Given the description of an element on the screen output the (x, y) to click on. 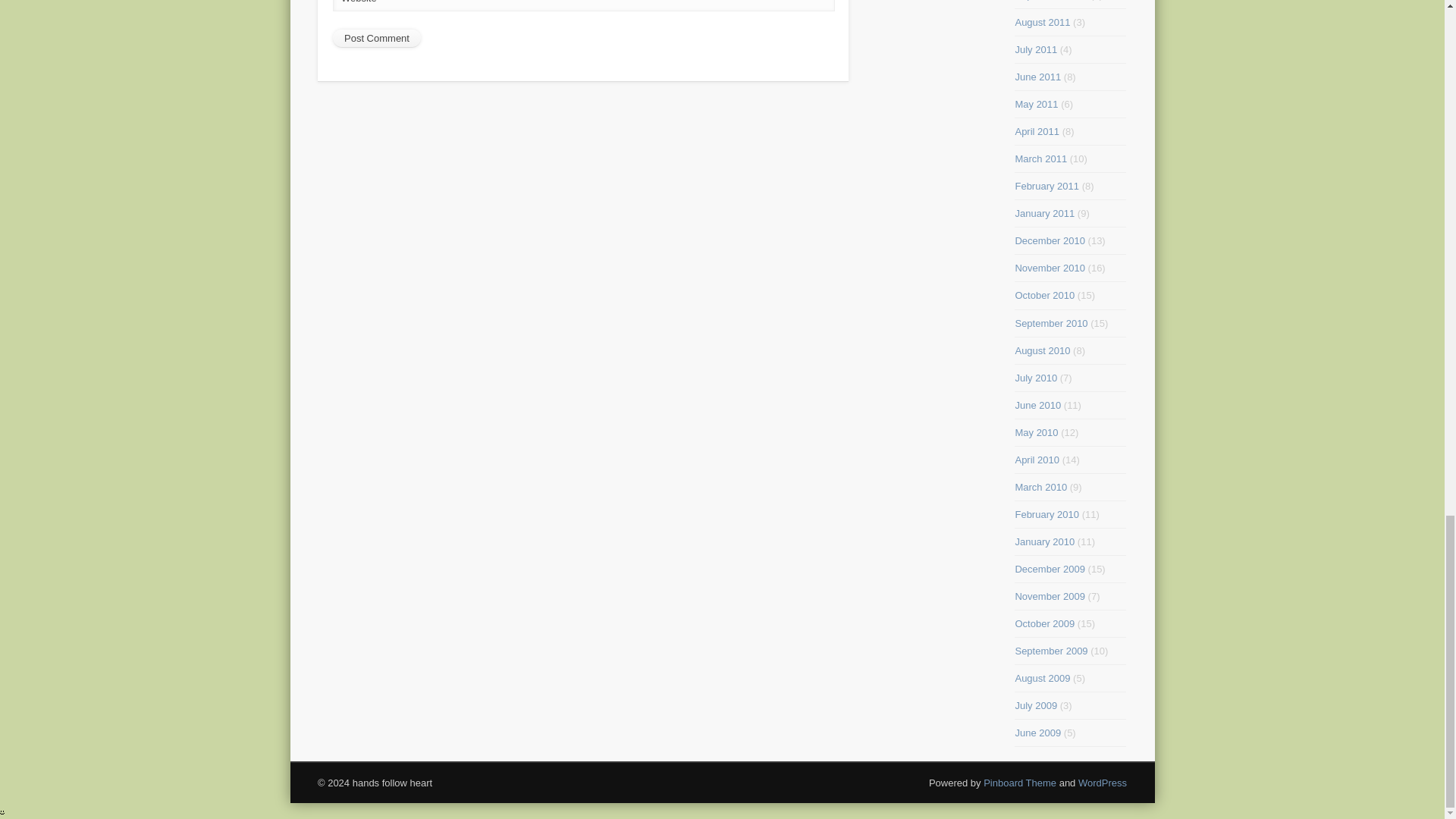
WordPress (1102, 782)
Post Comment (376, 38)
Post Comment (376, 38)
Pinboard Theme (1020, 782)
